Given the description of an element on the screen output the (x, y) to click on. 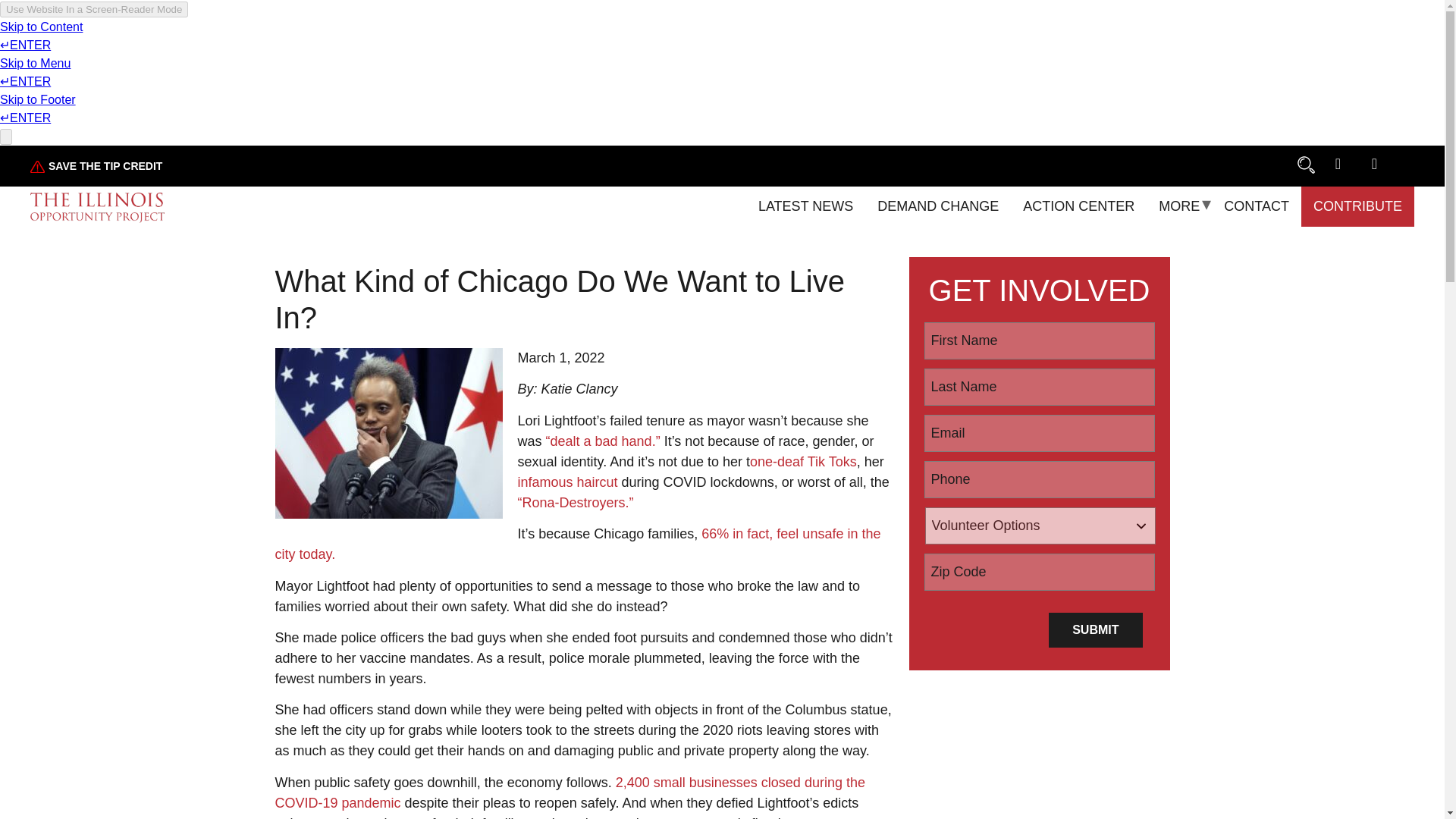
MORE (1179, 206)
infamous haircut (566, 482)
Submit (1094, 629)
CONTACT (1256, 206)
breaking political news Illinois (37, 166)
LATEST NEWS (804, 206)
Submit (1094, 629)
one-deaf Tik Toks (803, 461)
CONTRIBUTE (1357, 206)
DEMAND CHANGE (937, 206)
